Given the description of an element on the screen output the (x, y) to click on. 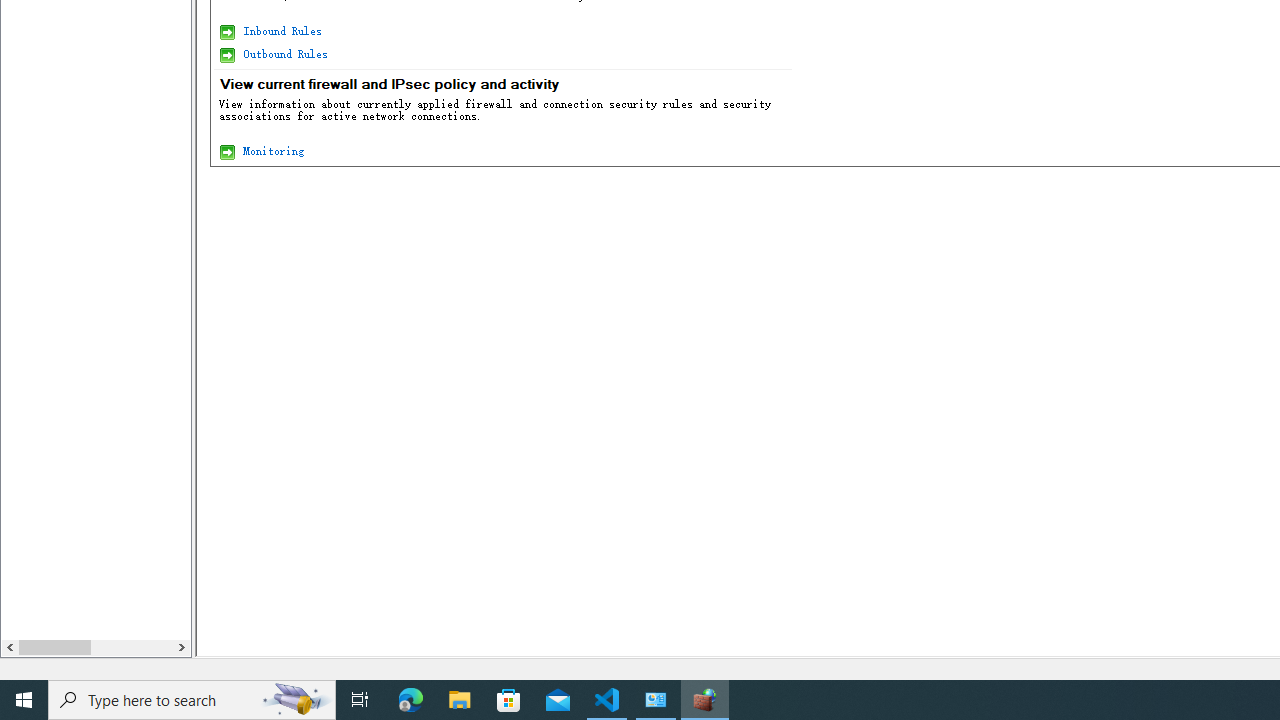
Page right (131, 647)
Column right (180, 647)
